Given the description of an element on the screen output the (x, y) to click on. 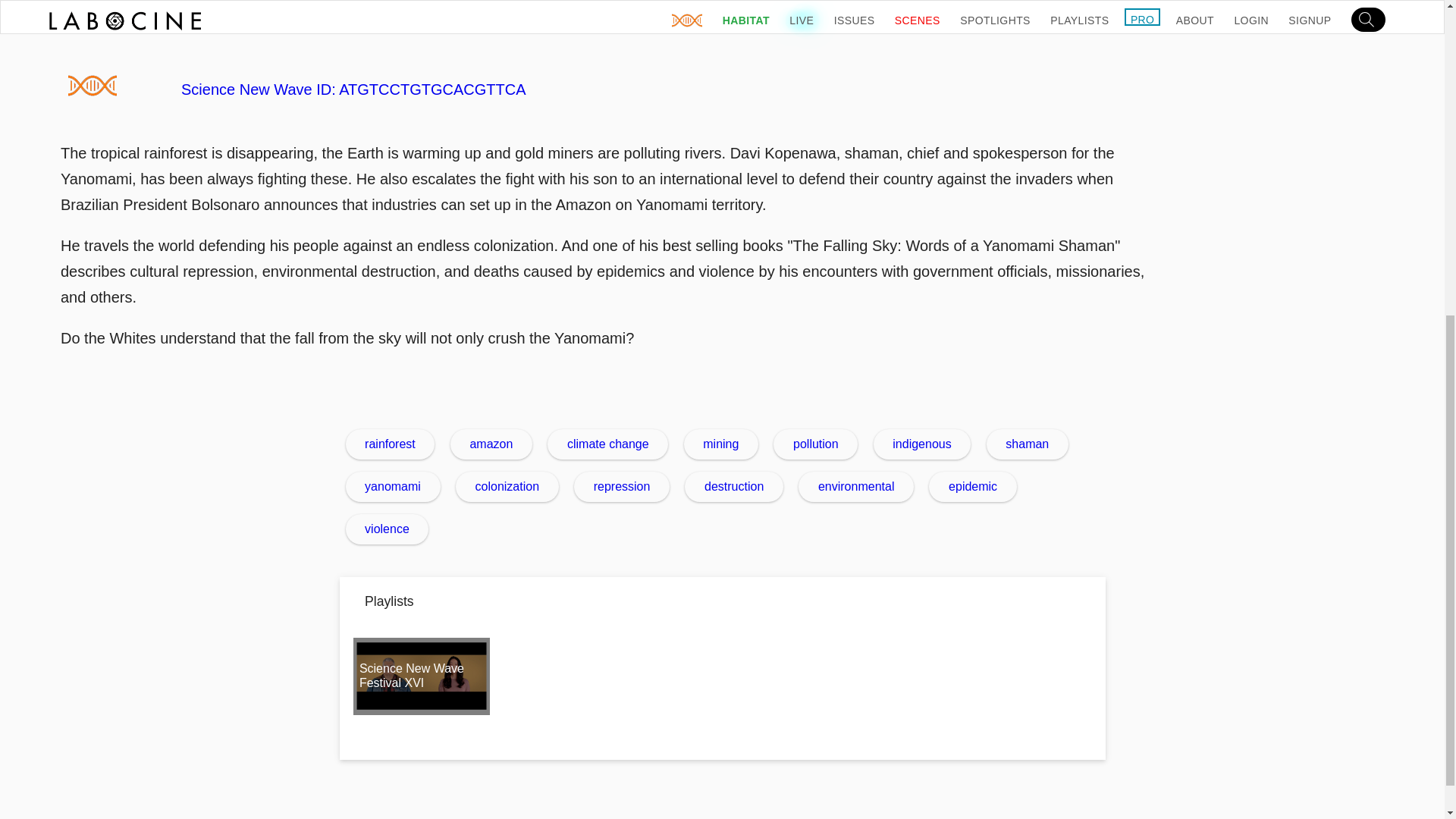
climate change (607, 444)
mining (721, 444)
Science New Wave ID: ATGTCCTGTGCACGTTCA (614, 89)
pollution (815, 444)
amazon (490, 444)
rainforest (390, 444)
